Given the description of an element on the screen output the (x, y) to click on. 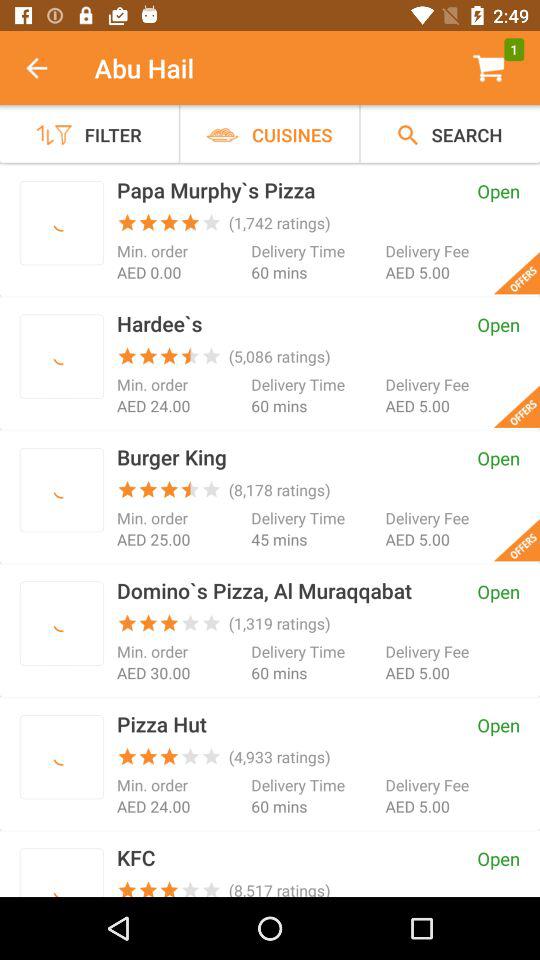
images of location if applicable (61, 356)
